Given the description of an element on the screen output the (x, y) to click on. 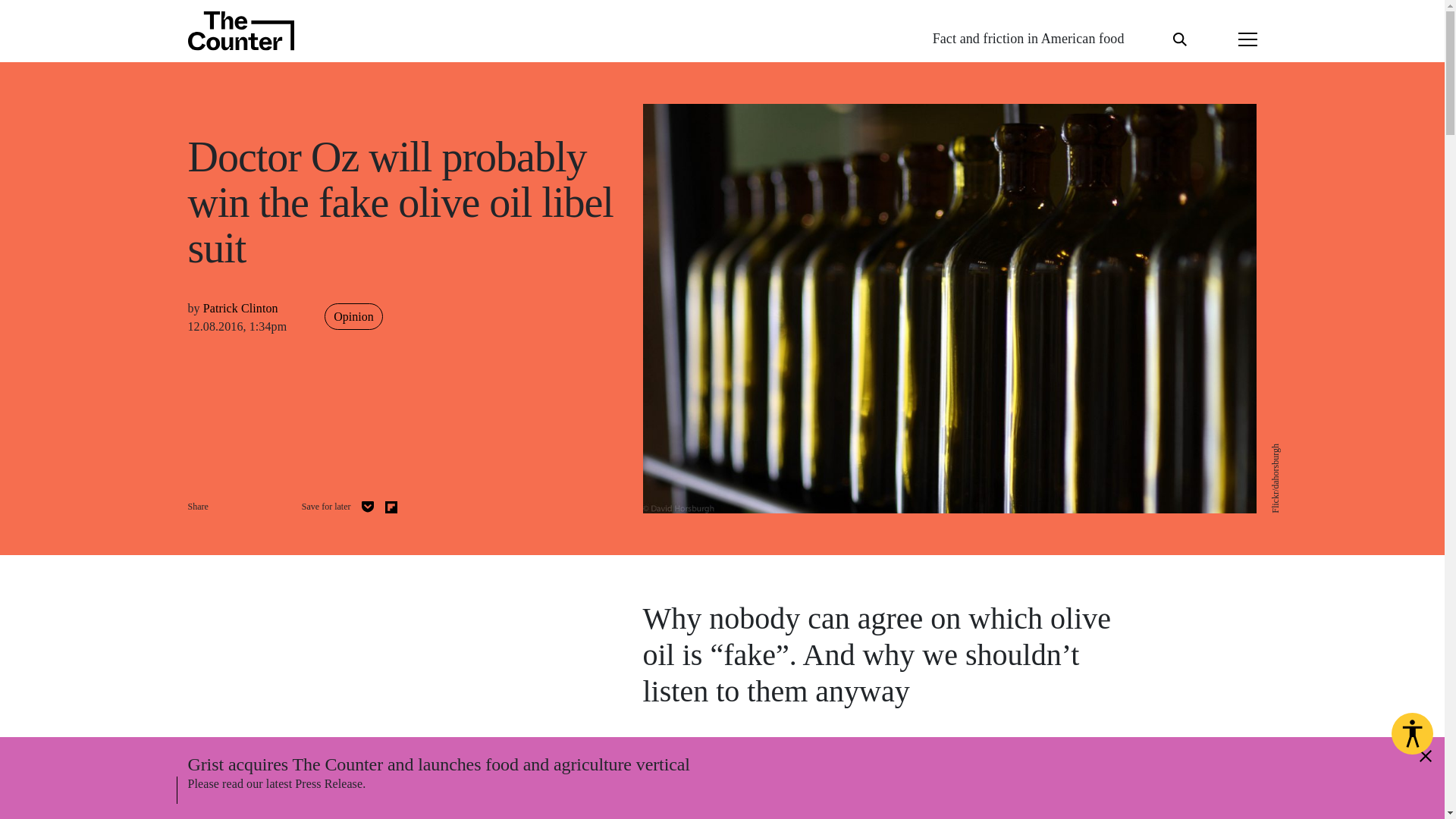
Opinion (352, 316)
Patrick Clinton (240, 308)
